Given the description of an element on the screen output the (x, y) to click on. 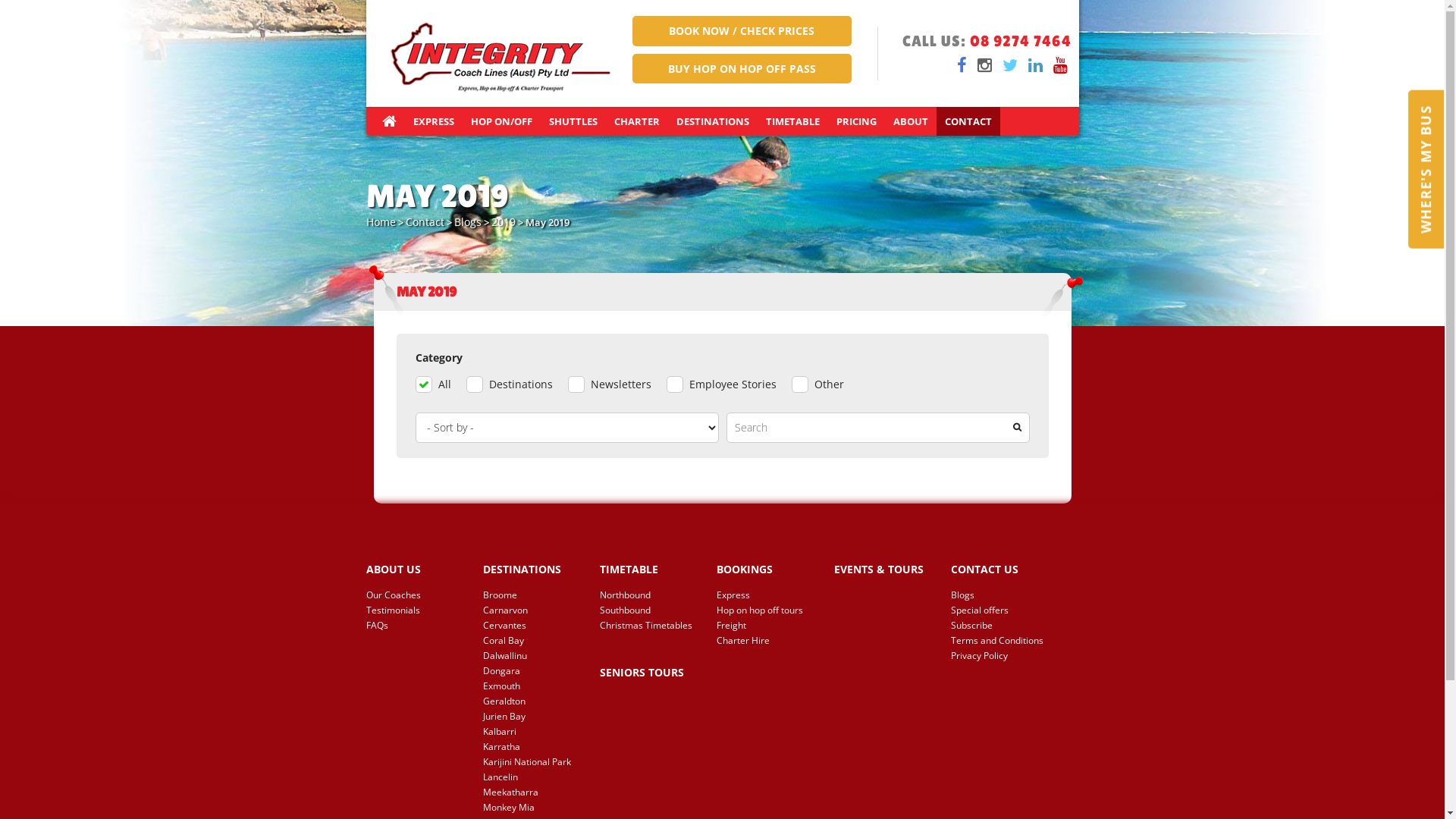
Blogs Element type: text (466, 220)
Exmouth Element type: text (533, 685)
Christmas Timetables Element type: text (650, 625)
Karratha Element type: text (533, 746)
Cervantes Element type: text (533, 625)
Charter Hire Element type: text (767, 640)
Lancelin Element type: text (533, 776)
HOME Element type: text (388, 120)
ABOUT Element type: text (909, 120)
2019 Element type: text (503, 220)
Coral Bay Element type: text (533, 640)
Blogs Element type: text (1001, 594)
CONTACT US Element type: text (1001, 569)
EXPRESS Element type: text (433, 120)
Our Coaches Element type: text (416, 594)
Contact Element type: text (423, 220)
HOP ON/OFF Element type: text (501, 120)
Meekatharra Element type: text (533, 792)
Broome Element type: text (533, 594)
Dalwallinu Element type: text (533, 655)
Dongara Element type: text (533, 670)
Express Element type: text (767, 594)
Northbound Element type: text (650, 594)
CONTACT Element type: text (967, 120)
Southbound Element type: text (650, 610)
TIMETABLE Element type: text (791, 120)
Jurien Bay Element type: text (533, 716)
Home Element type: text (380, 220)
SENIORS TOURS Element type: text (650, 672)
Monkey Mia Element type: text (533, 807)
TIMETABLE Element type: text (650, 569)
BOOK NOW / CHECK PRICES Element type: text (741, 30)
FAQs Element type: text (416, 625)
Testimonials Element type: text (416, 610)
Freight Element type: text (767, 625)
ABOUT US Element type: text (416, 569)
CHARTER Element type: text (636, 120)
Hop on hop off tours Element type: text (767, 610)
Kalbarri Element type: text (533, 731)
BOOKINGS Element type: text (767, 569)
Terms and Conditions Element type: text (1001, 640)
SHUTTLES Element type: text (572, 120)
Privacy Policy Element type: text (1001, 655)
BUY HOP ON HOP OFF PASS Element type: text (741, 68)
Karijini National Park Element type: text (533, 761)
EVENTS & TOURS Element type: text (884, 569)
PRICING Element type: text (856, 120)
Carnarvon Element type: text (533, 610)
Special offers Element type: text (1001, 610)
DESTINATIONS Element type: text (533, 569)
Subscribe Element type: text (1001, 625)
Geraldton Element type: text (533, 701)
DESTINATIONS Element type: text (711, 120)
08 9274 7464 Element type: text (1019, 40)
